Given the description of an element on the screen output the (x, y) to click on. 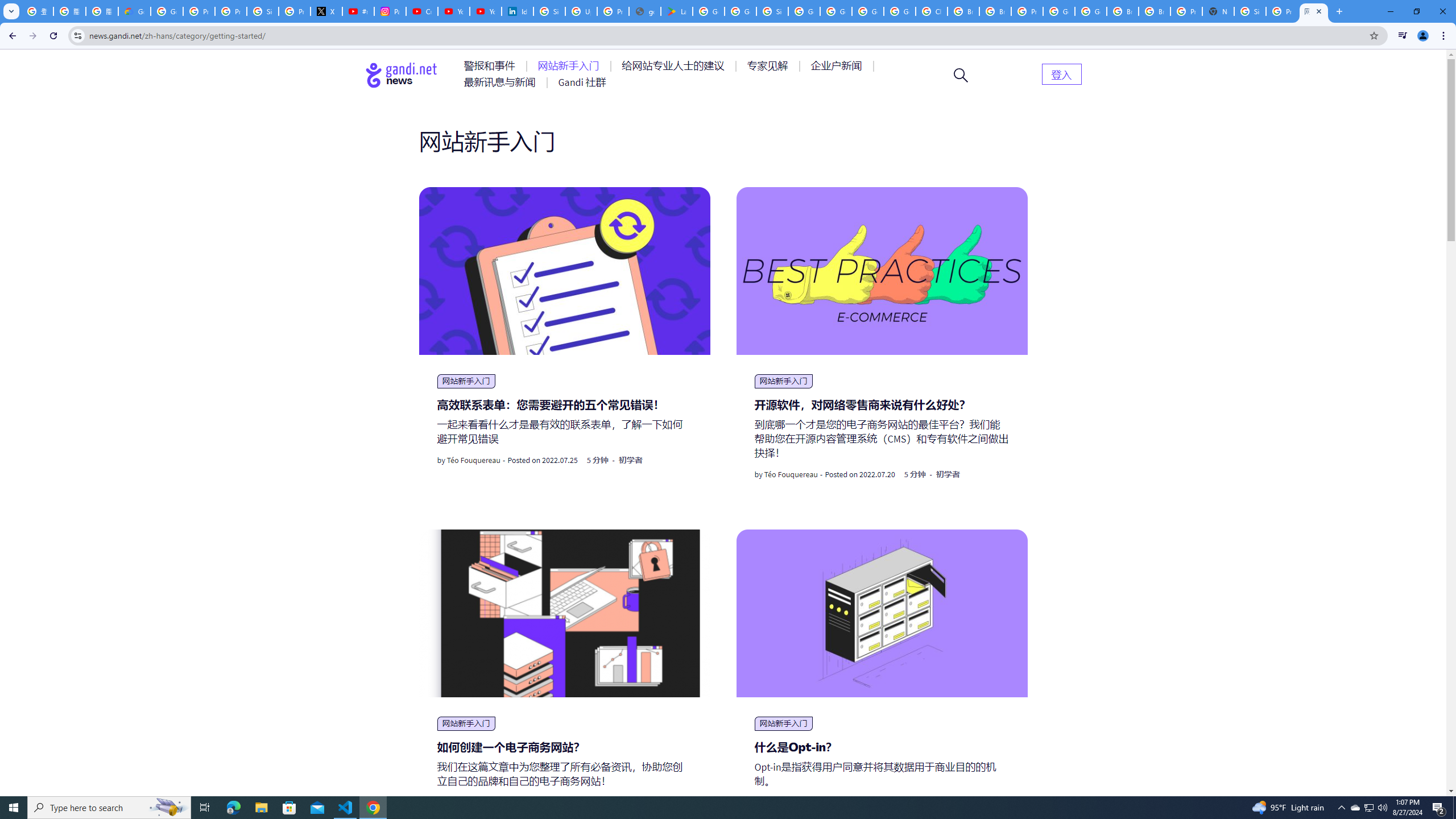
AutomationID: menu-item-77767 (581, 82)
YouTube Culture & Trends - YouTube Top 10, 2021 (485, 11)
Sign in - Google Accounts (262, 11)
Open search form (960, 74)
Privacy Help Center - Policies Help (198, 11)
Google Workspace - Specific Terms (740, 11)
Sign in - Google Accounts (1249, 11)
